Given the description of an element on the screen output the (x, y) to click on. 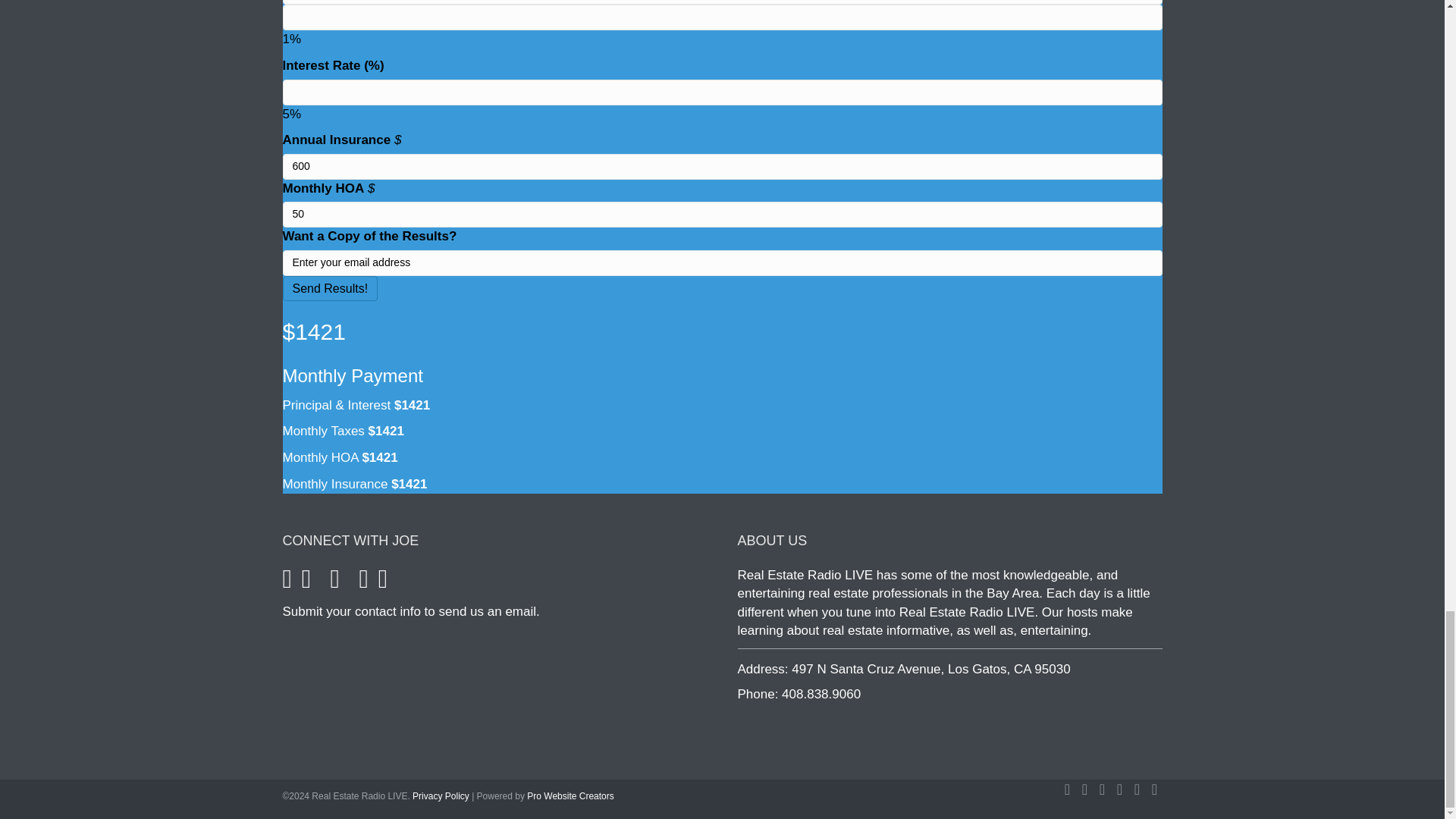
Visit Real Estate Radio LIVE on Twitter (306, 583)
Send Results! (329, 288)
Visit Real Estate Radio LIVE on Instagram (334, 583)
600 (721, 166)
Visit Real Estate Radio LIVE on LinkedIn (382, 583)
Tax Slider (721, 17)
Visit Real Estate Radio LIVE on Pinterest (363, 583)
Visit Real Estate Radio LIVE on Facebook (286, 583)
50 (721, 214)
